Given the description of an element on the screen output the (x, y) to click on. 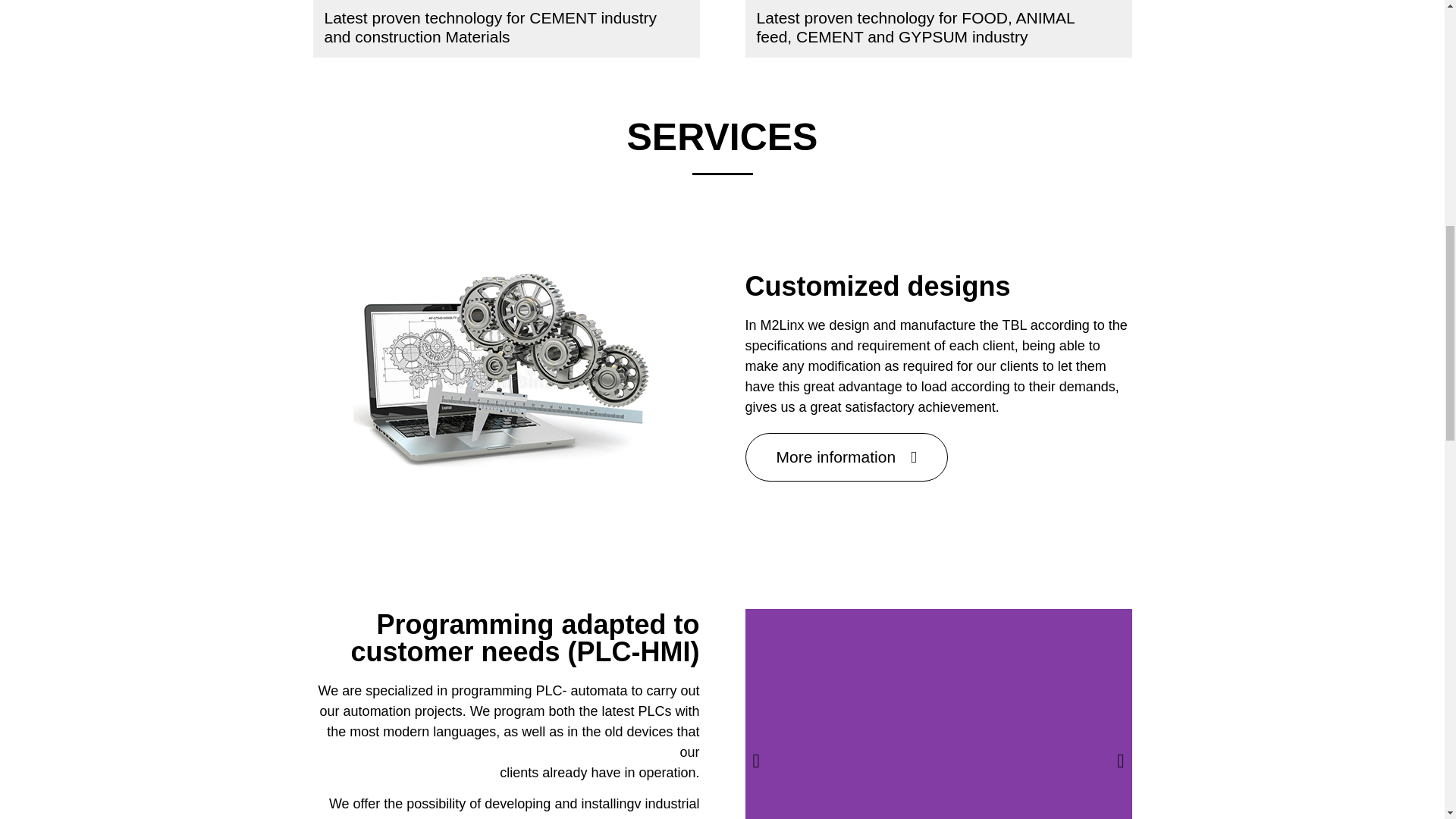
More information (845, 457)
